Given the description of an element on the screen output the (x, y) to click on. 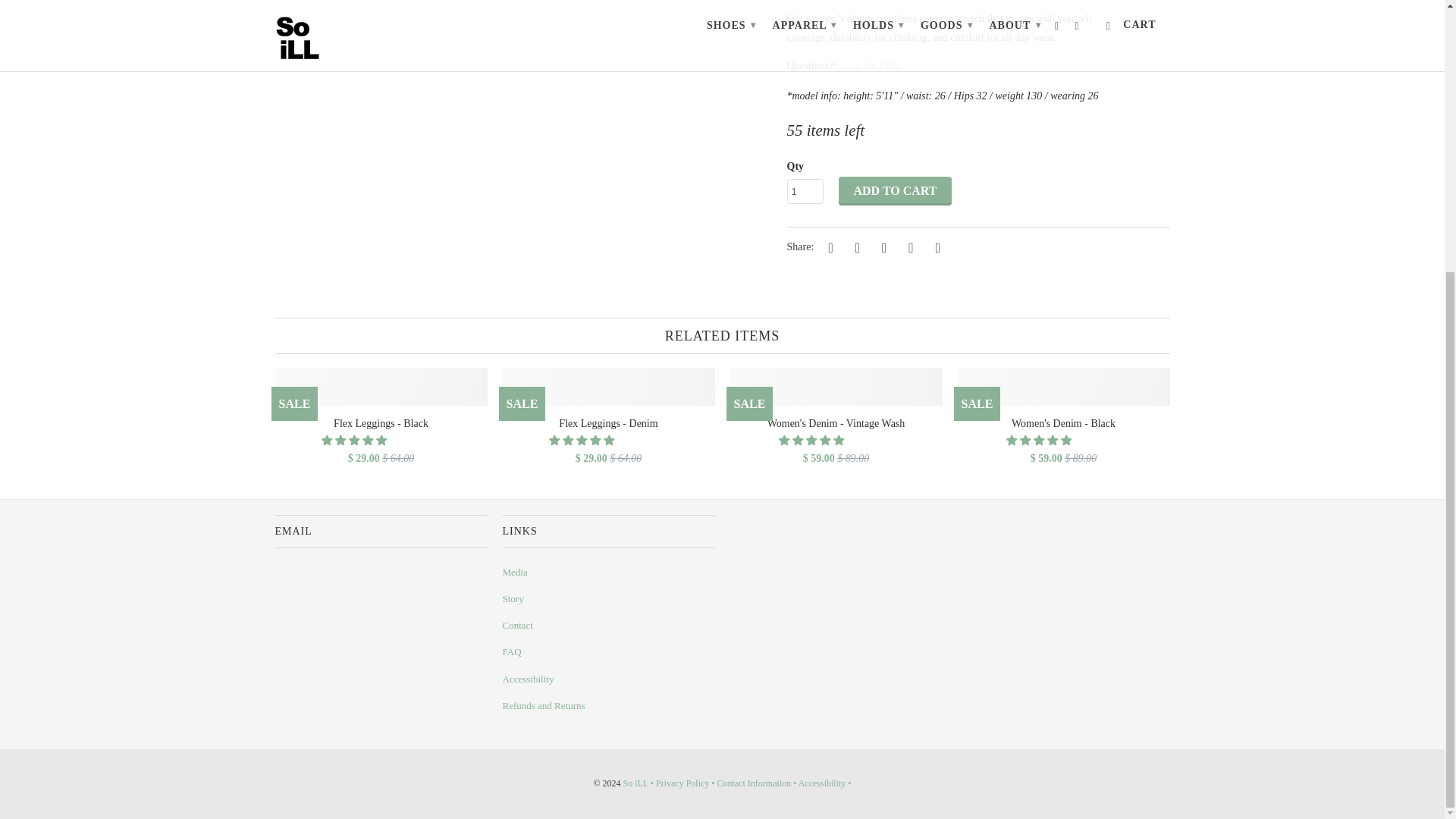
Share this on Pinterest (881, 246)
1 (805, 191)
Share this on Twitter (828, 246)
Share this on Facebook (855, 246)
Email this to a friend (935, 246)
